Given the description of an element on the screen output the (x, y) to click on. 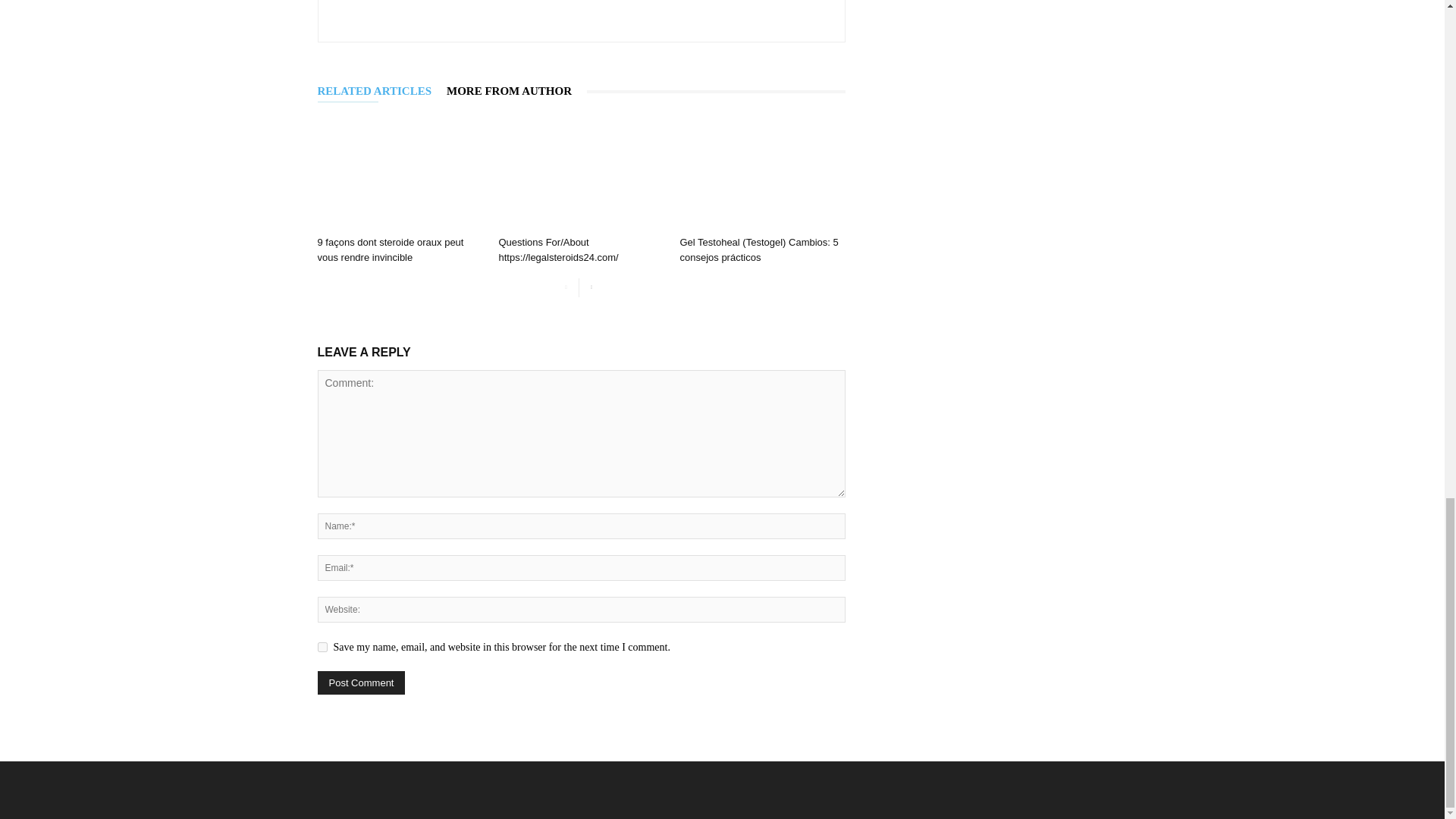
yes (321, 646)
RELATED ARTICLES (381, 91)
Post Comment (360, 682)
MORE FROM AUTHOR (516, 91)
